Given the description of an element on the screen output the (x, y) to click on. 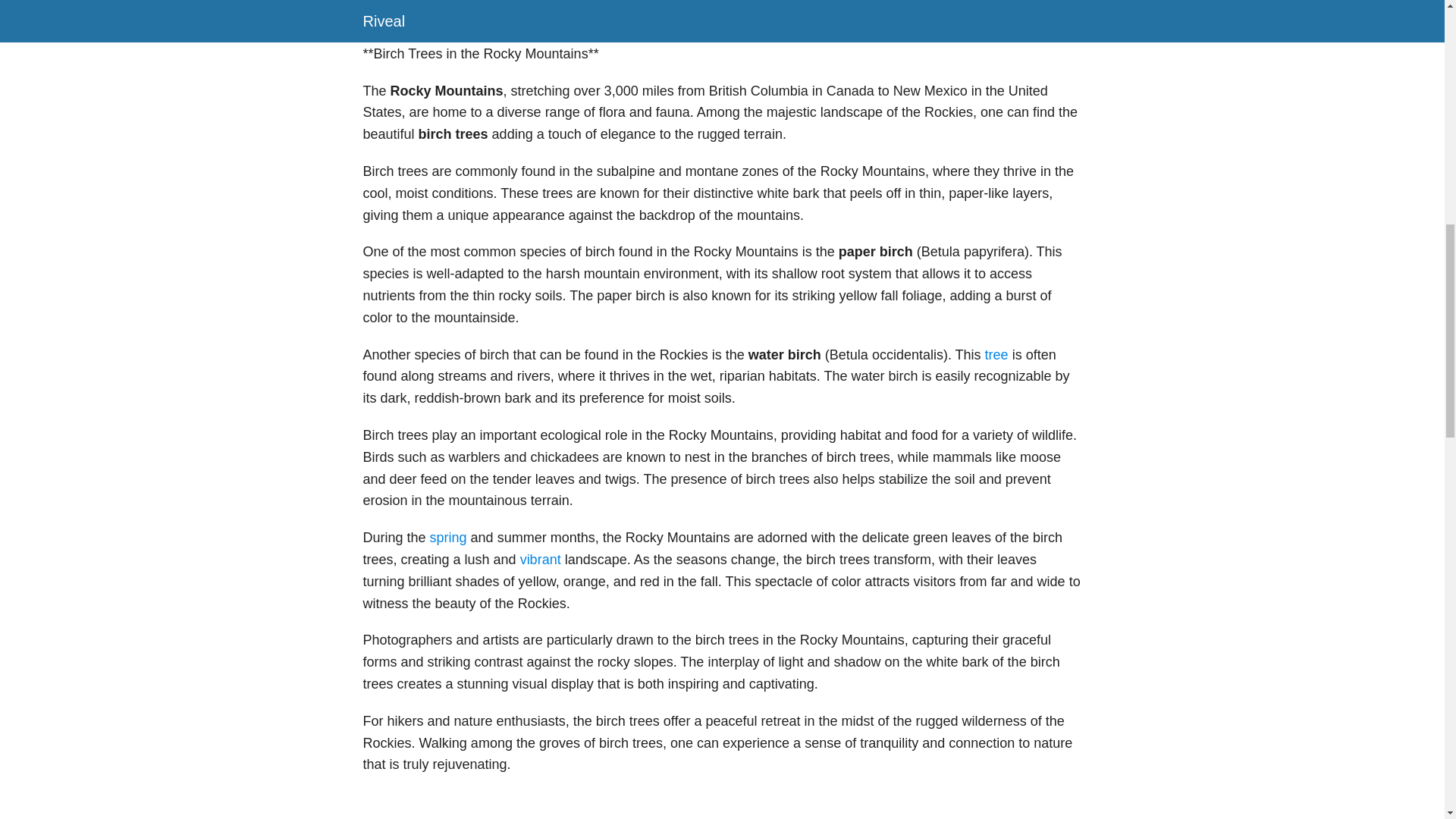
tree (997, 354)
spring (448, 537)
vibrant (539, 559)
